Given the description of an element on the screen output the (x, y) to click on. 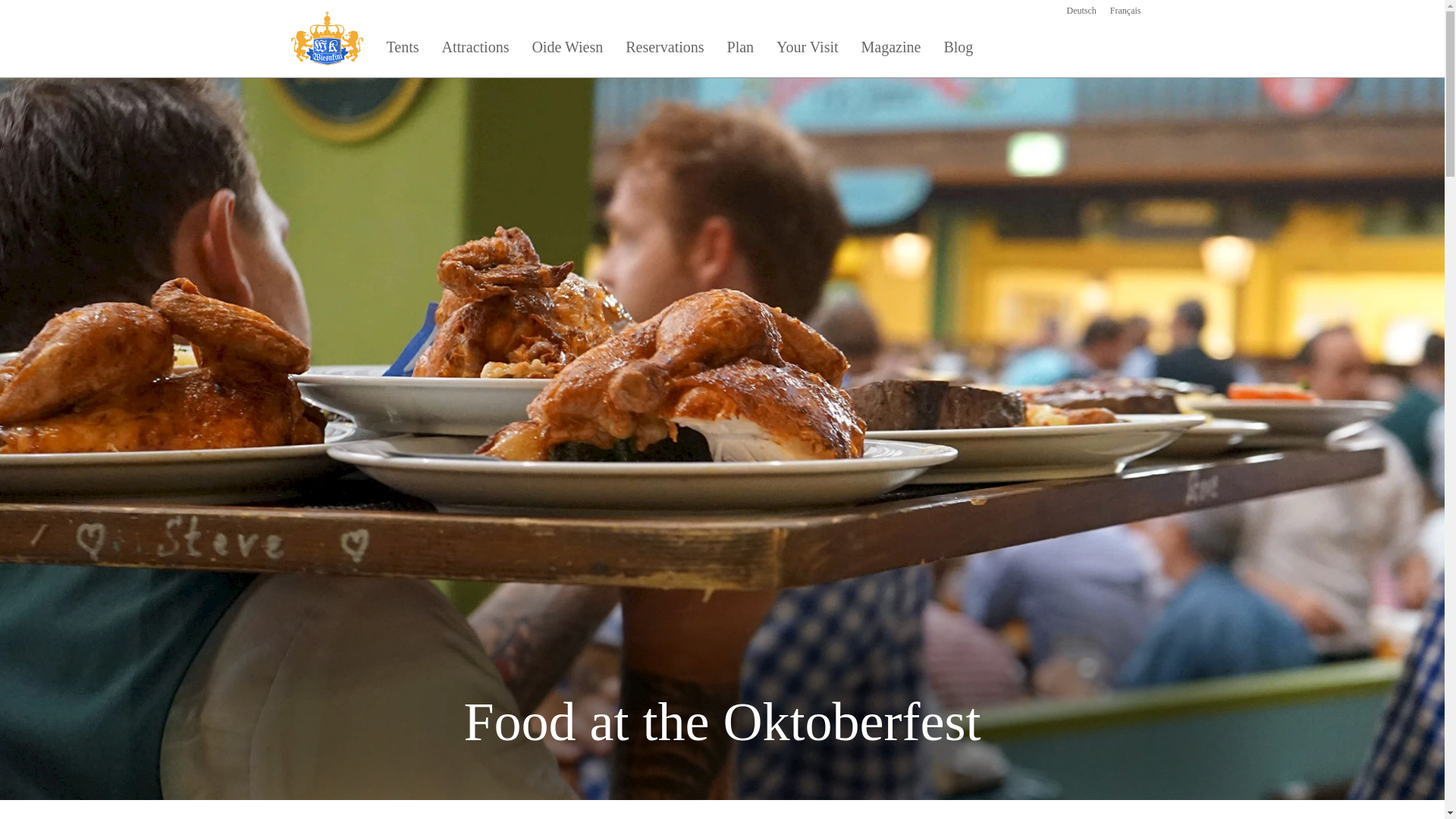
Your Visit (806, 44)
Reservations (664, 44)
Oide Wiesn (566, 44)
Attractions (475, 44)
Magazine (891, 44)
Tents (401, 44)
Plan (740, 44)
Blog (957, 44)
Deutsch (1081, 9)
